Given the description of an element on the screen output the (x, y) to click on. 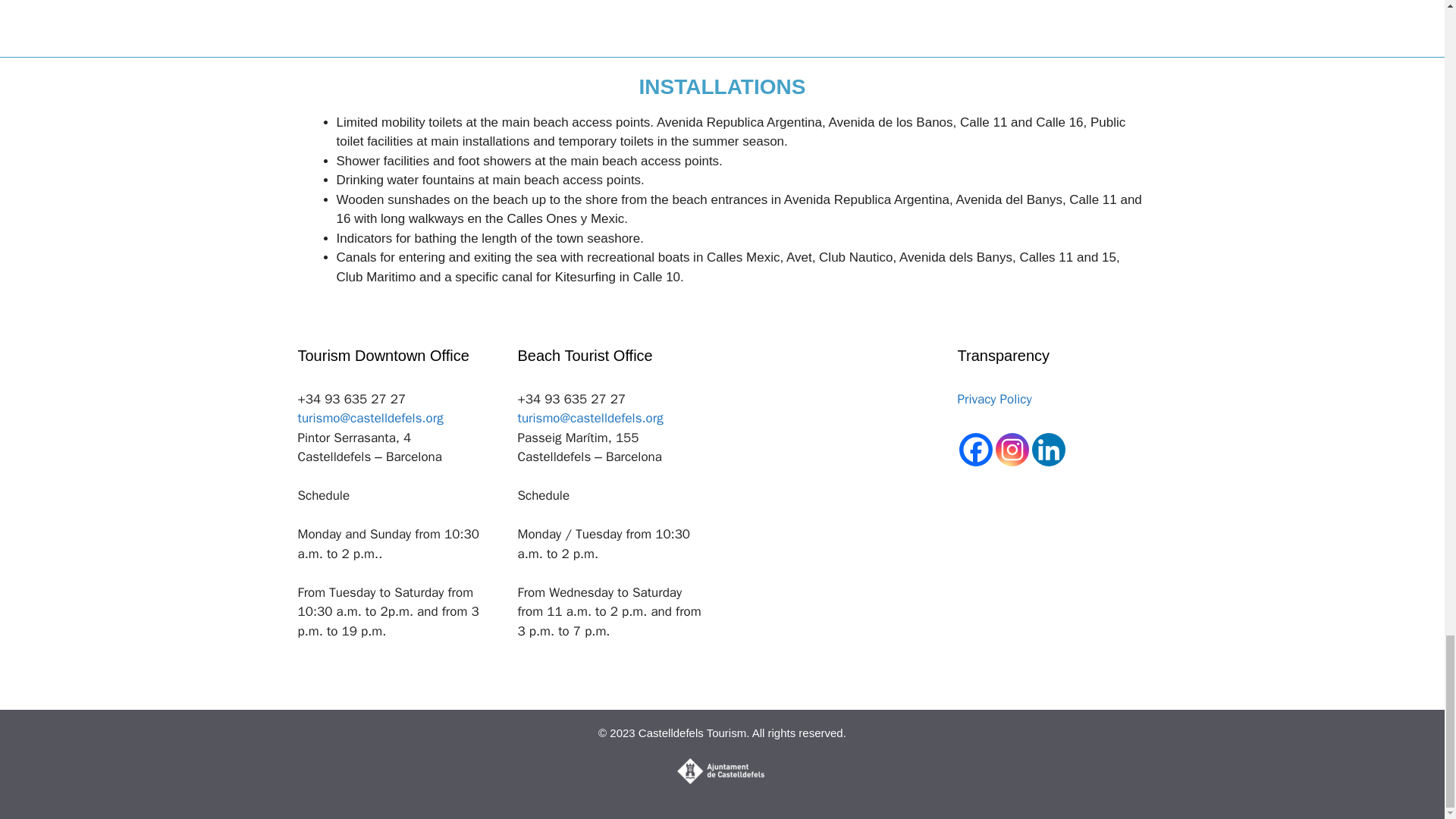
Instagram (1010, 449)
Facebook (974, 449)
Linkedin (1047, 449)
Privacy Policy (993, 399)
